Given the description of an element on the screen output the (x, y) to click on. 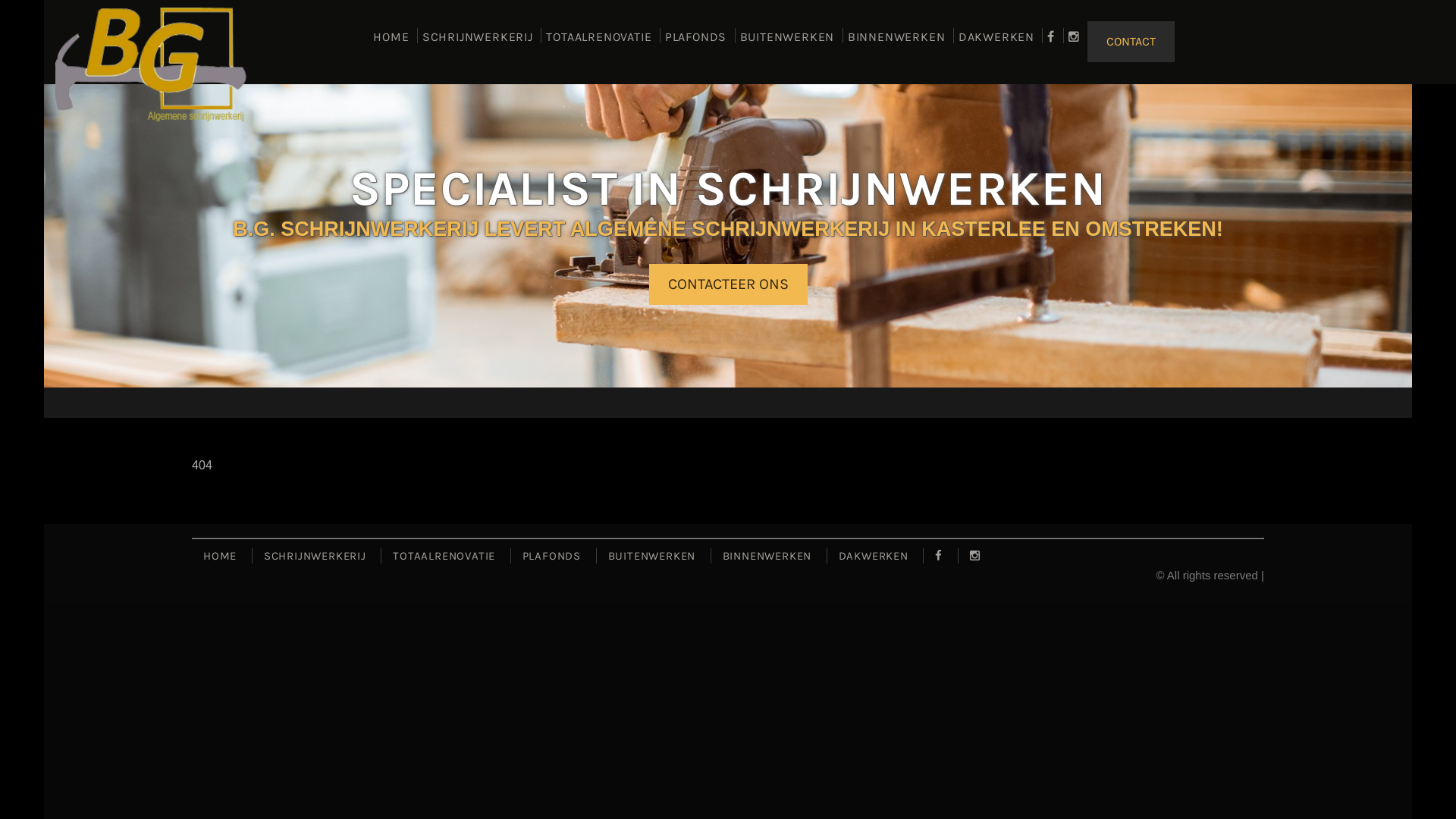
BINNENWERKEN Element type: text (896, 42)
PLAFONDS Element type: text (695, 42)
BINNENWERKEN Element type: text (767, 555)
HOME Element type: text (390, 42)
SCHRIJNWERKERIJ Element type: text (314, 555)
TOTAALRENOVATIE Element type: text (443, 555)
DAKWERKEN Element type: text (873, 555)
SCHRIJNWERKERIJ Element type: text (477, 42)
CONTACT Element type: text (1130, 41)
DAKWERKEN Element type: text (996, 42)
PLAFONDS Element type: text (551, 555)
BUITENWERKEN Element type: text (652, 555)
TOTAALRENOVATIE Element type: text (598, 42)
HOME Element type: text (219, 555)
BUITENWERKEN Element type: text (787, 42)
CONTACTEER ONS Element type: text (728, 283)
